Given the description of an element on the screen output the (x, y) to click on. 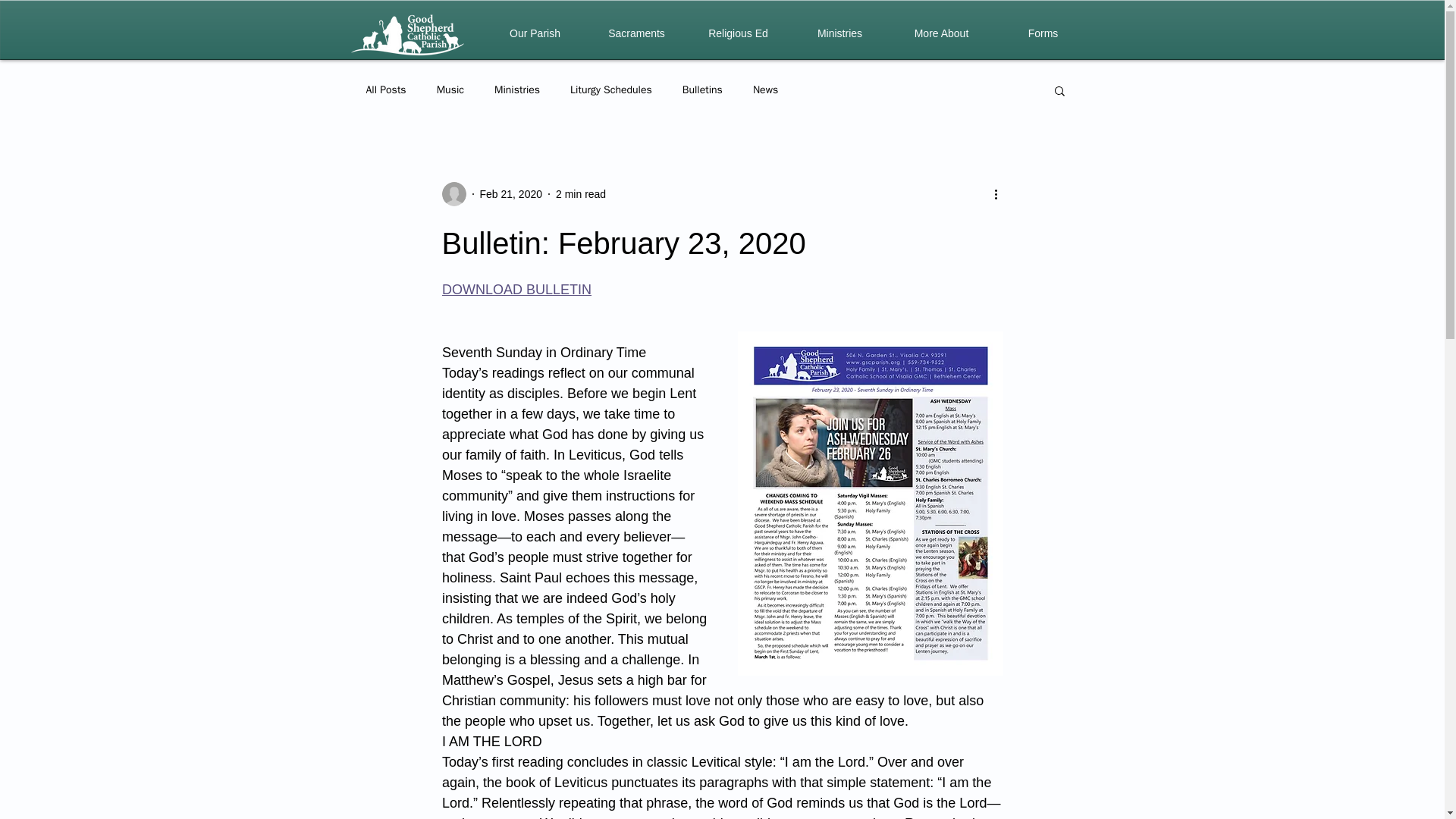
Sacraments (636, 33)
Feb 21, 2020 (510, 193)
2 min read (580, 193)
